Given the description of an element on the screen output the (x, y) to click on. 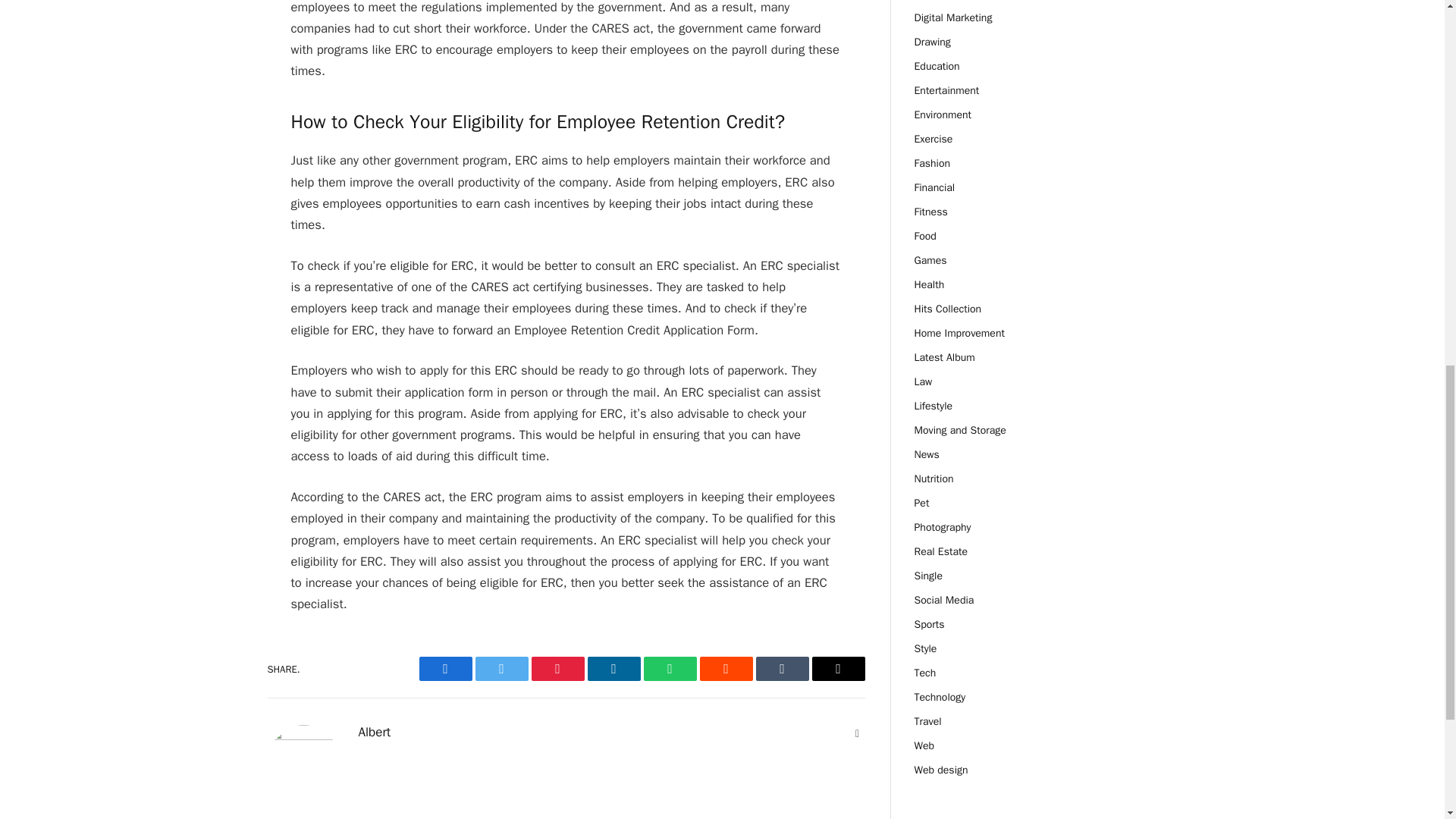
LinkedIn (613, 668)
Website (856, 734)
Share on Facebook (445, 668)
Reddit (725, 668)
Albert (374, 732)
Pinterest (557, 668)
Email (837, 668)
Twitter (500, 668)
WhatsApp (669, 668)
Tumblr (781, 668)
